Given the description of an element on the screen output the (x, y) to click on. 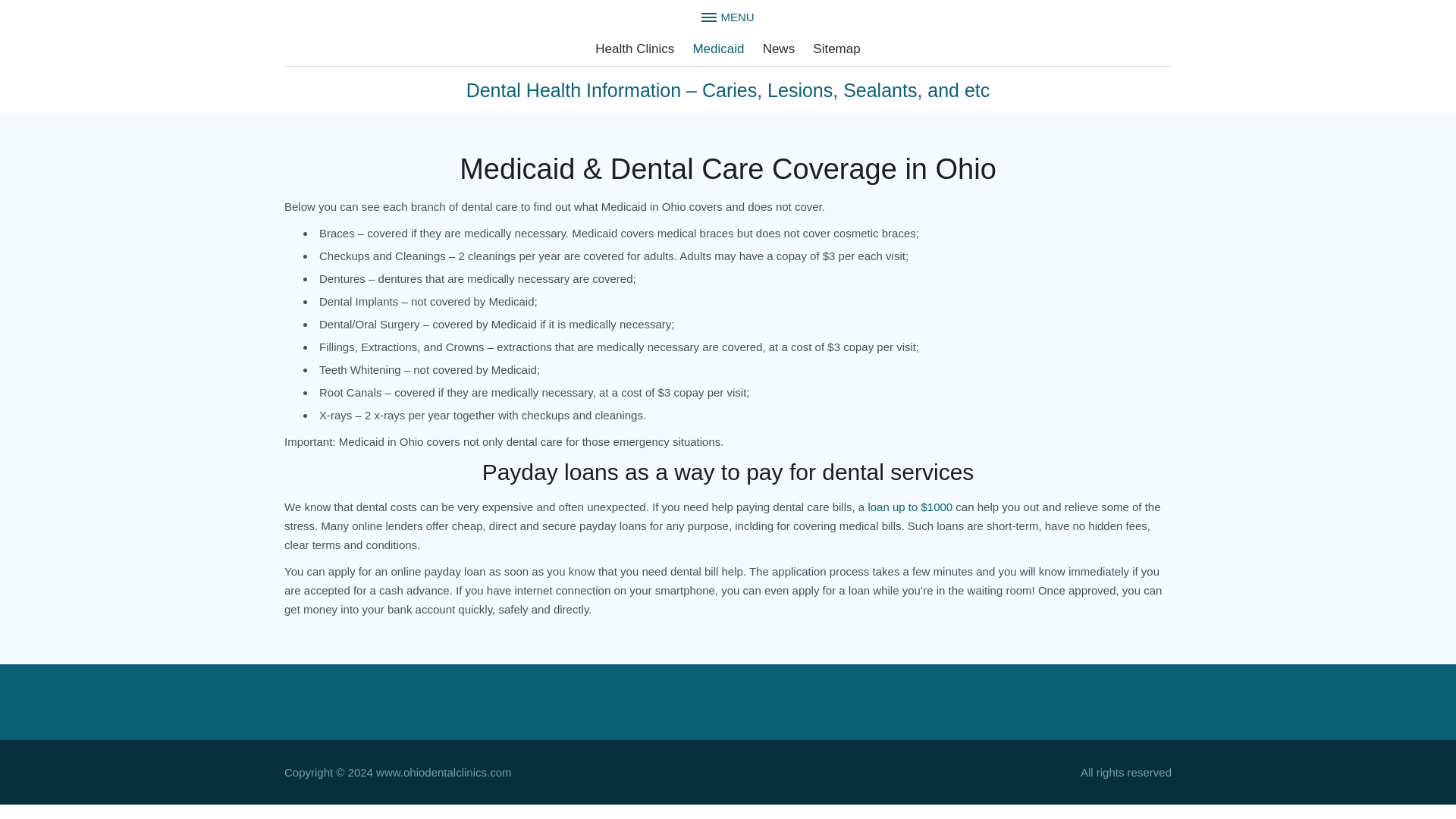
Loans up to 1000 (909, 506)
Medicaid (717, 48)
MENU (727, 13)
Sitemap (836, 48)
Health Clinics (634, 48)
News (779, 48)
